Given the description of an element on the screen output the (x, y) to click on. 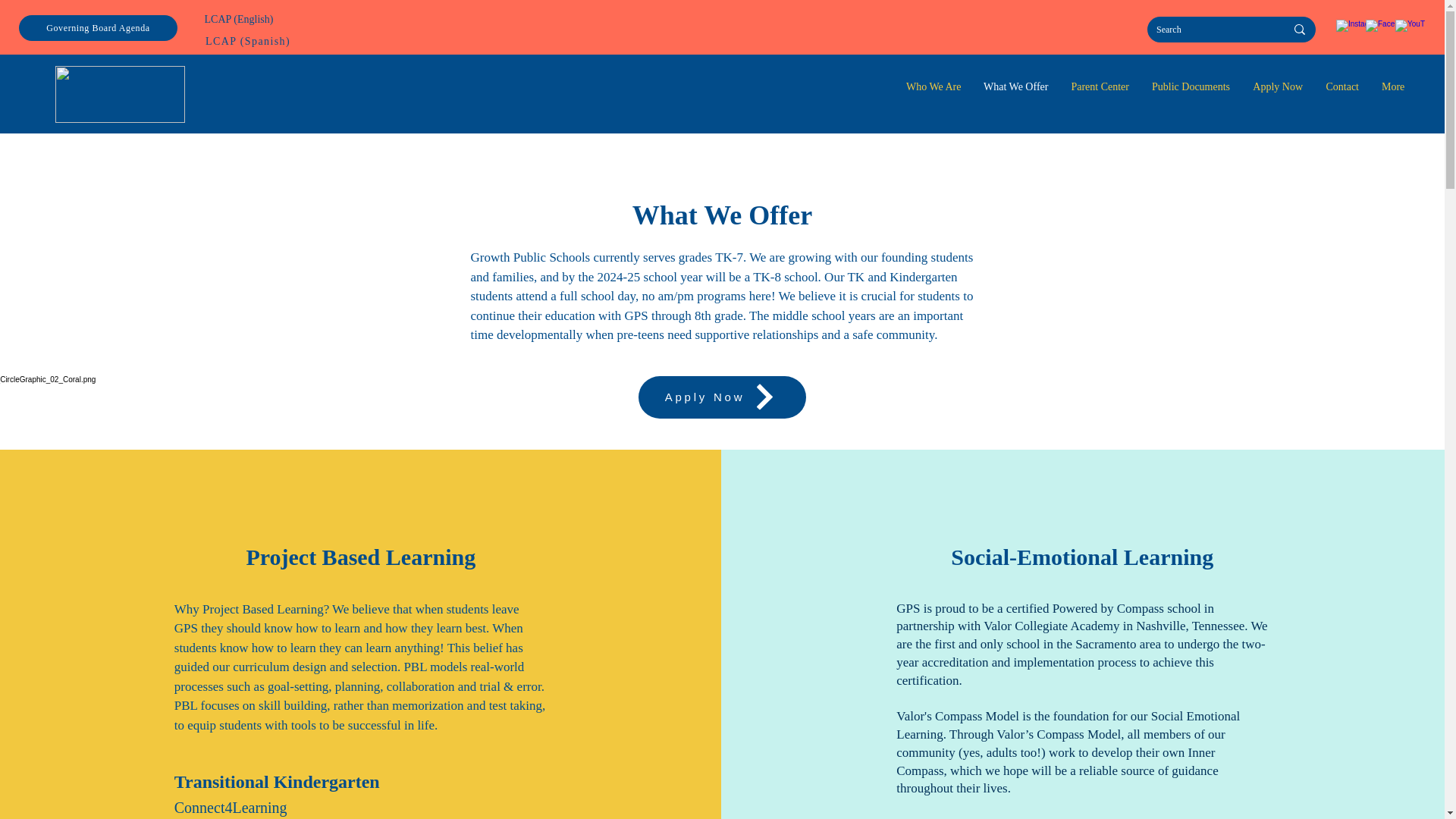
What We Offer (1015, 86)
Apply Now (722, 396)
Who We Are (933, 86)
Contact (1342, 86)
Governing Board Agenda (97, 27)
Apply Now (1277, 86)
Parent Center (1099, 86)
